Given the description of an element on the screen output the (x, y) to click on. 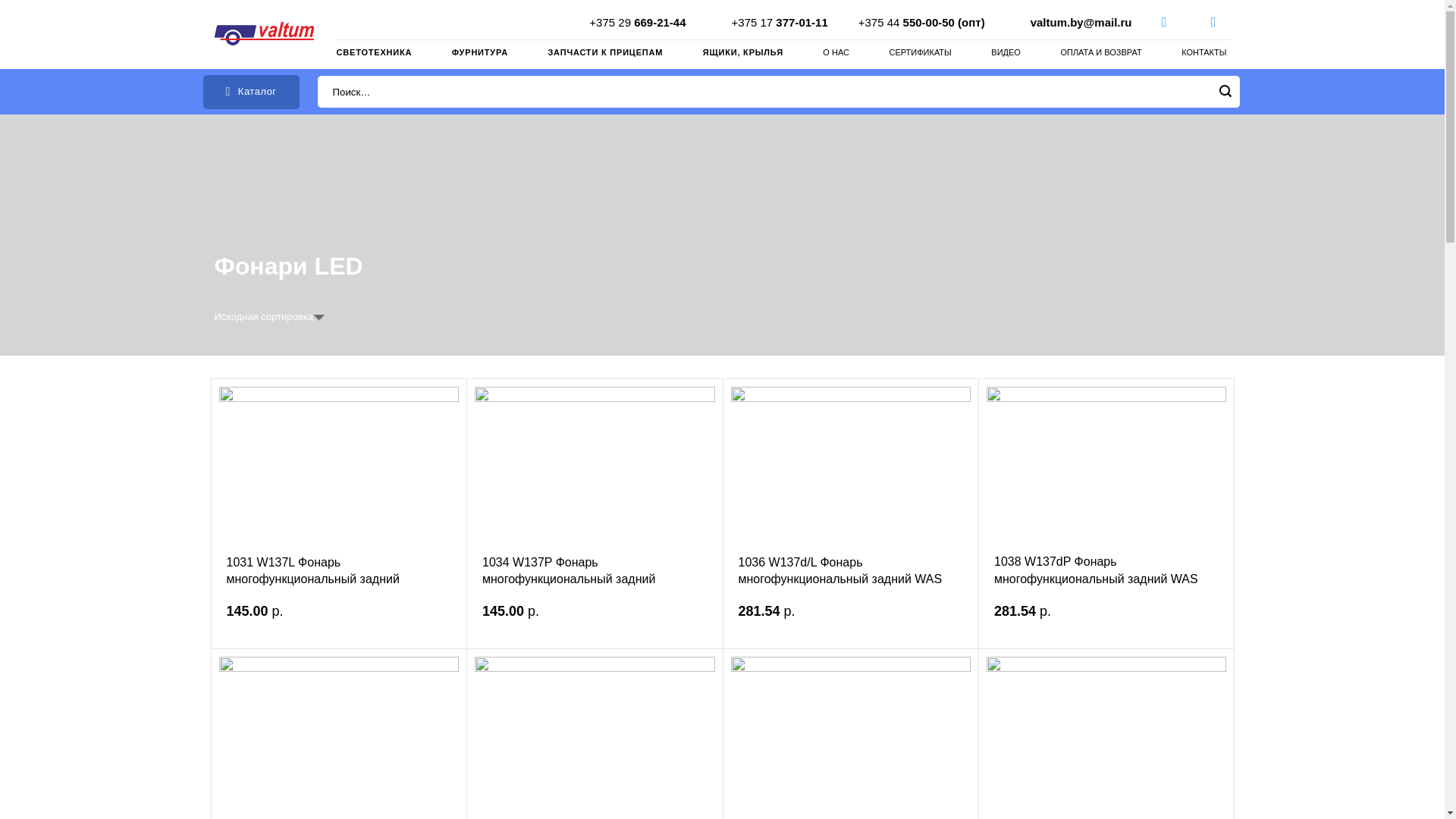
+375 29 669-21-44 Element type: text (637, 21)
valtum.by@mail.ru Element type: text (1081, 21)
+375 17 377-01-11 Element type: text (779, 21)
